Given the description of an element on the screen output the (x, y) to click on. 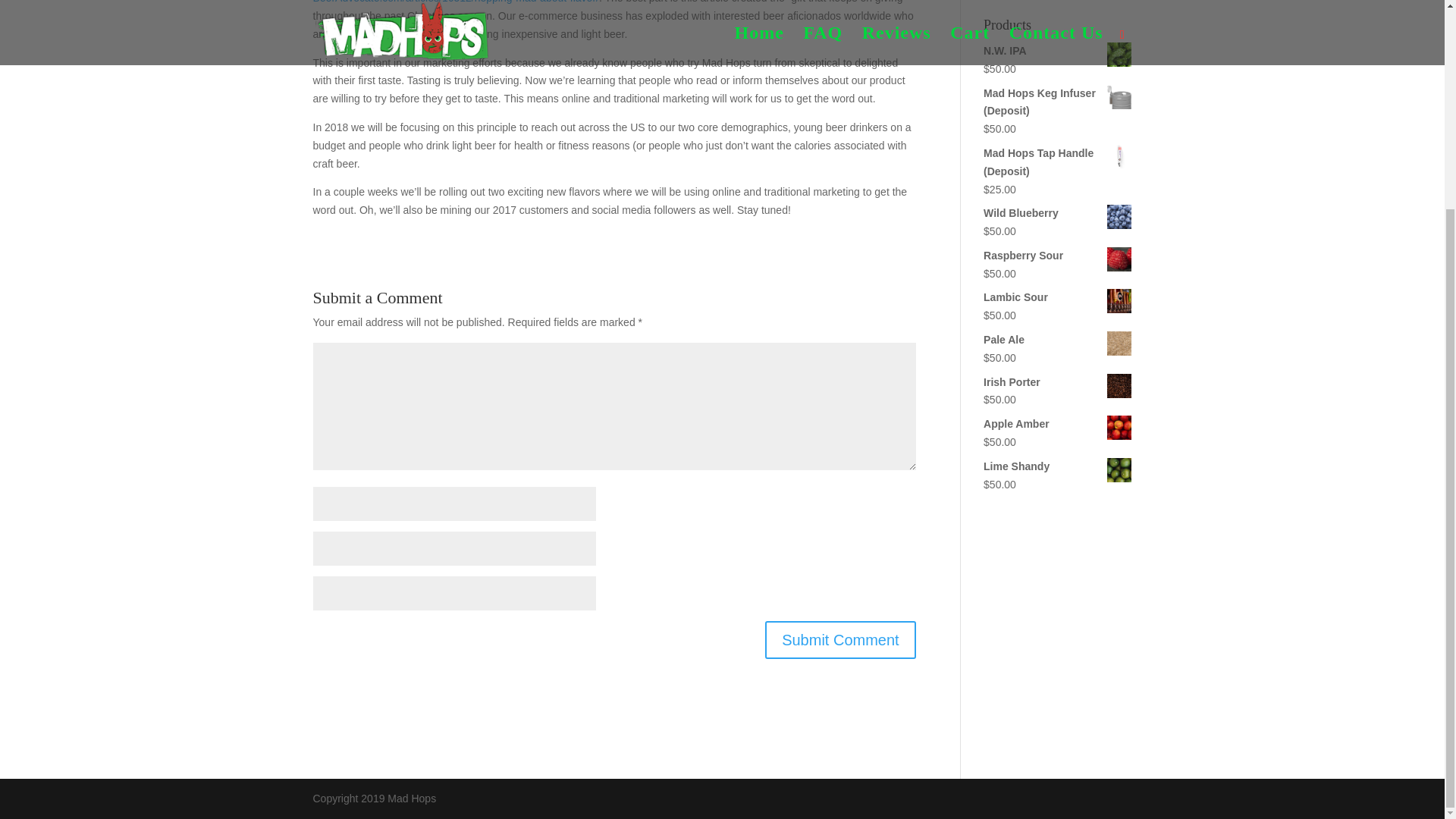
Lambic Sour (1057, 298)
Submit Comment (840, 639)
Submit Comment (840, 639)
Irish Porter (1057, 382)
Apple Amber (1057, 424)
Raspberry Sour (1057, 256)
Wild Blueberry (1057, 213)
N.W. IPA (1057, 51)
Pale Ale (1057, 340)
Lime Shandy (1057, 466)
